Given the description of an element on the screen output the (x, y) to click on. 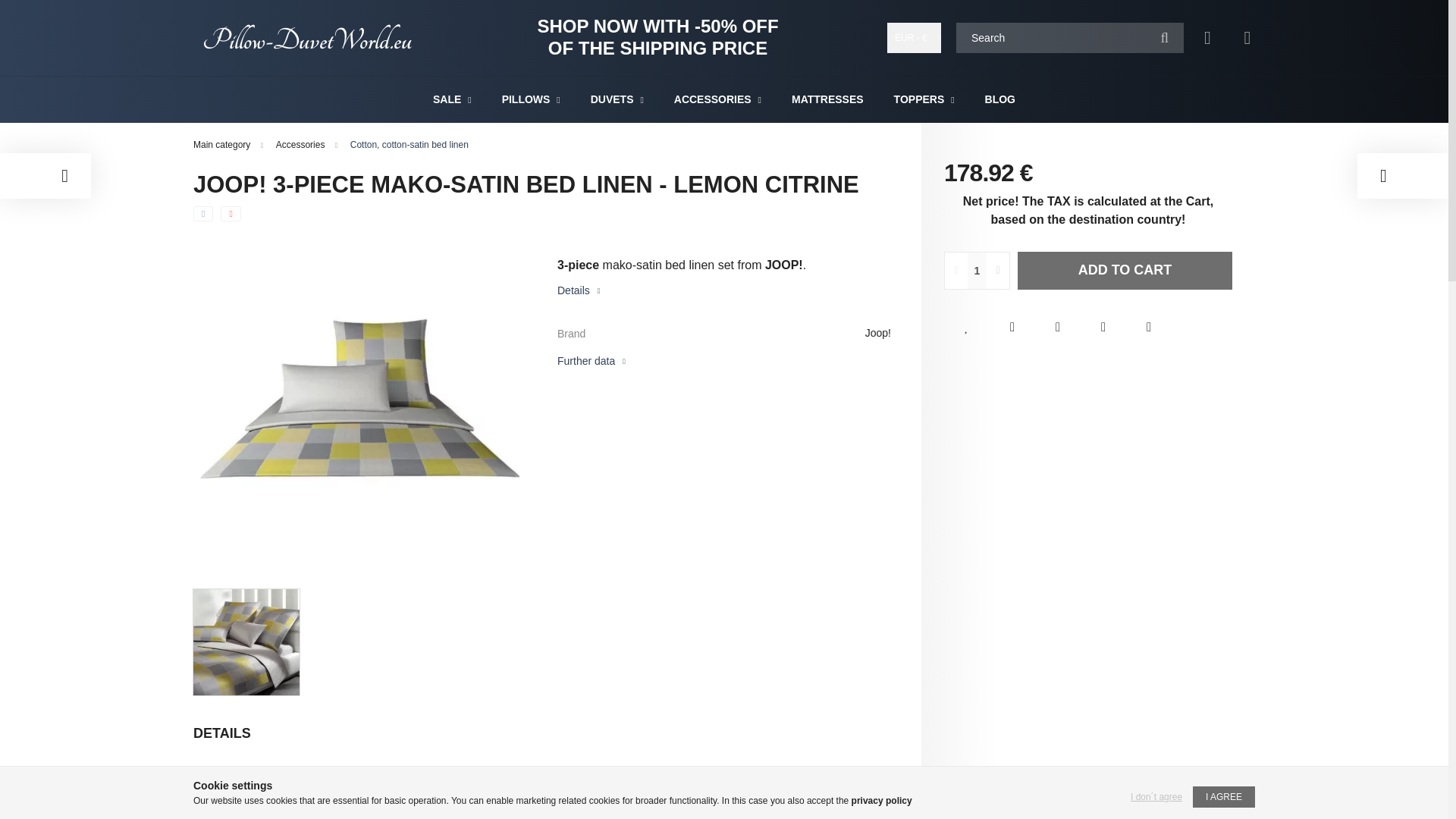
Enter a longer search term! (1069, 37)
JOOP! 3-piece mako-satin bed linen - Lemon citrine (246, 641)
TOPPERS (920, 99)
PILLOWS (527, 99)
Details (578, 290)
Main category (223, 144)
SALE (448, 99)
JOOP! 3-piece mako-satin bed linen - Lemon citrine (360, 399)
DUVETS (614, 99)
MATTRESSES (827, 99)
